Given the description of an element on the screen output the (x, y) to click on. 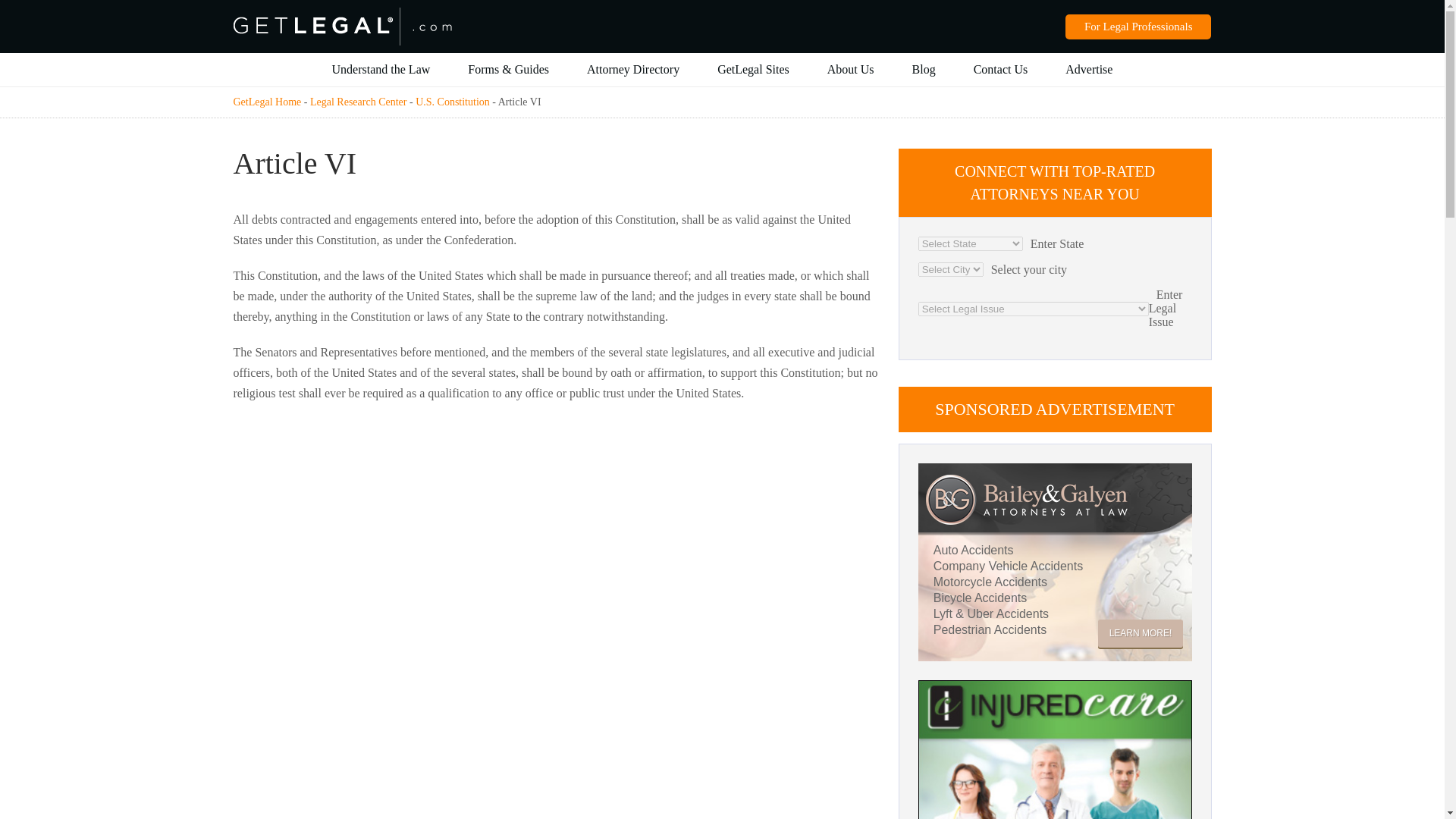
Understand the Law (380, 69)
About Us (851, 69)
GetLegal Sites (753, 69)
Contact Us (1000, 69)
U.S. Constitution (451, 101)
Getlegal (341, 13)
Contact Us (1000, 69)
Understand the Law (380, 69)
GetLegal Sites (753, 69)
GetLegal Home (266, 101)
Legal Research Center (358, 101)
Attorney Directory (632, 69)
About Us (851, 69)
Advertise (1088, 69)
Advertise (1088, 69)
